Given the description of an element on the screen output the (x, y) to click on. 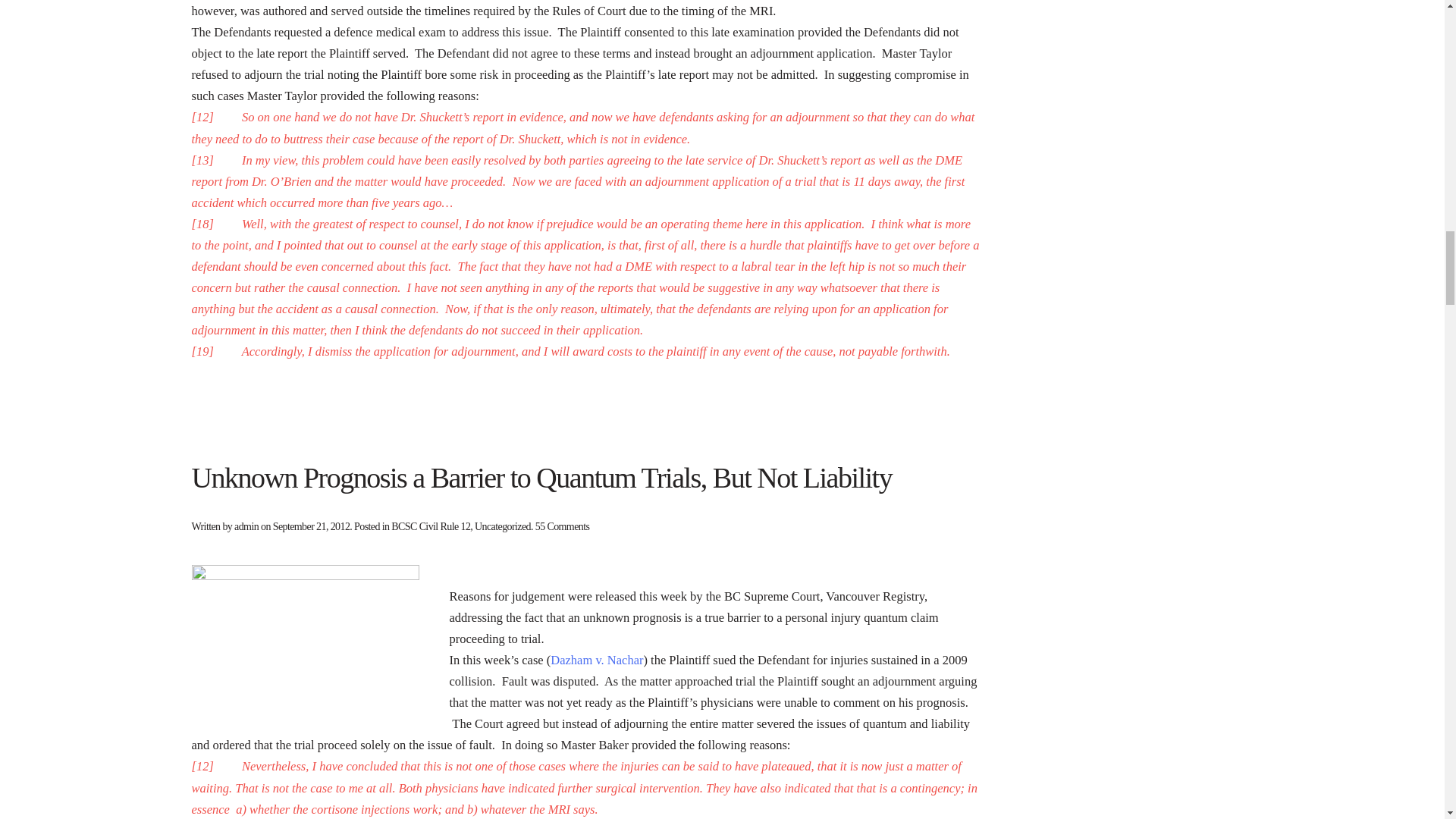
admin (246, 526)
bc-injury-law-question3 (304, 646)
Uncategorized (502, 526)
BCSC Civil Rule 12 (430, 526)
Dazham v. Nachar (596, 659)
